Given the description of an element on the screen output the (x, y) to click on. 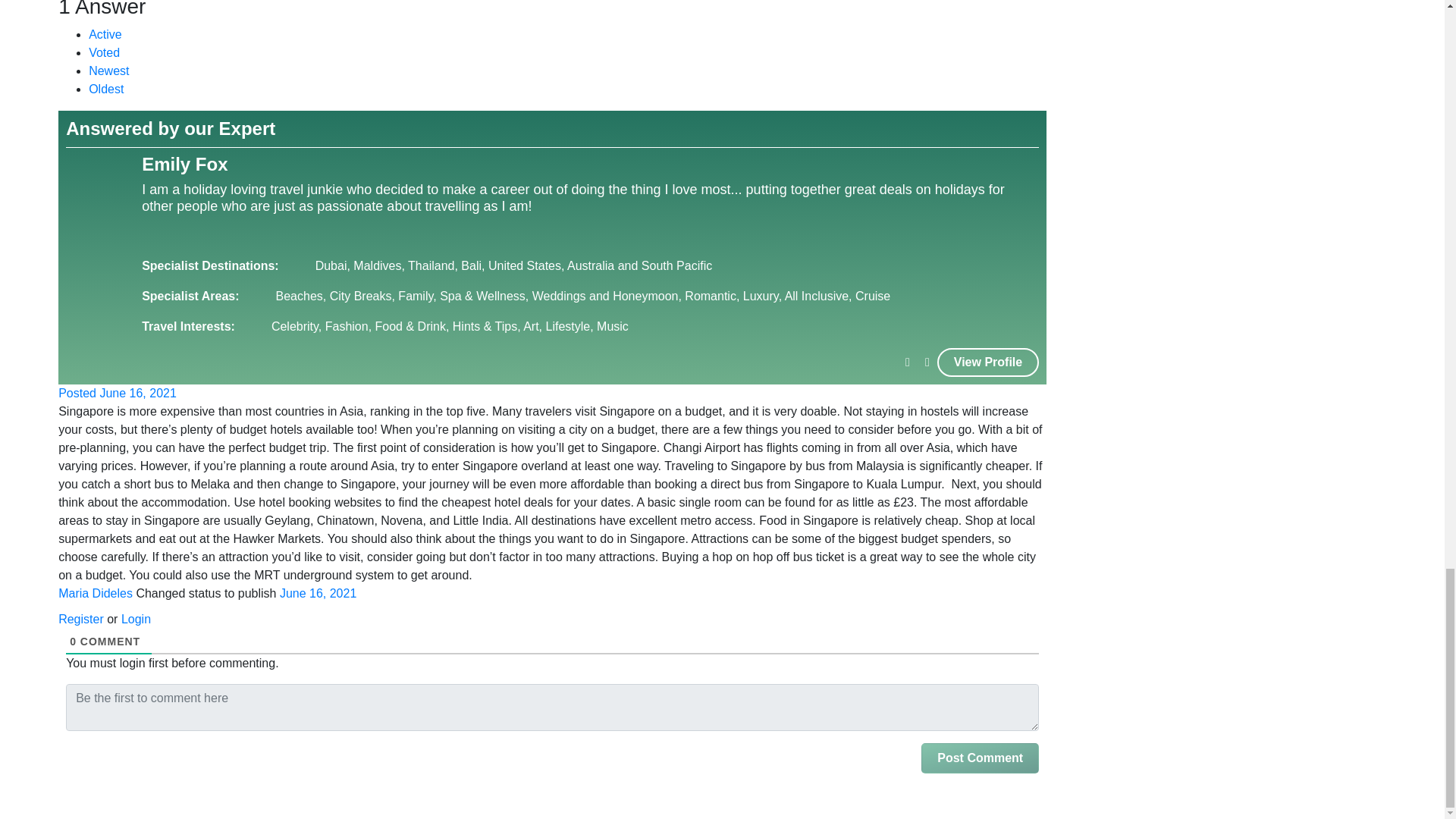
Post Comment (980, 757)
